Given the description of an element on the screen output the (x, y) to click on. 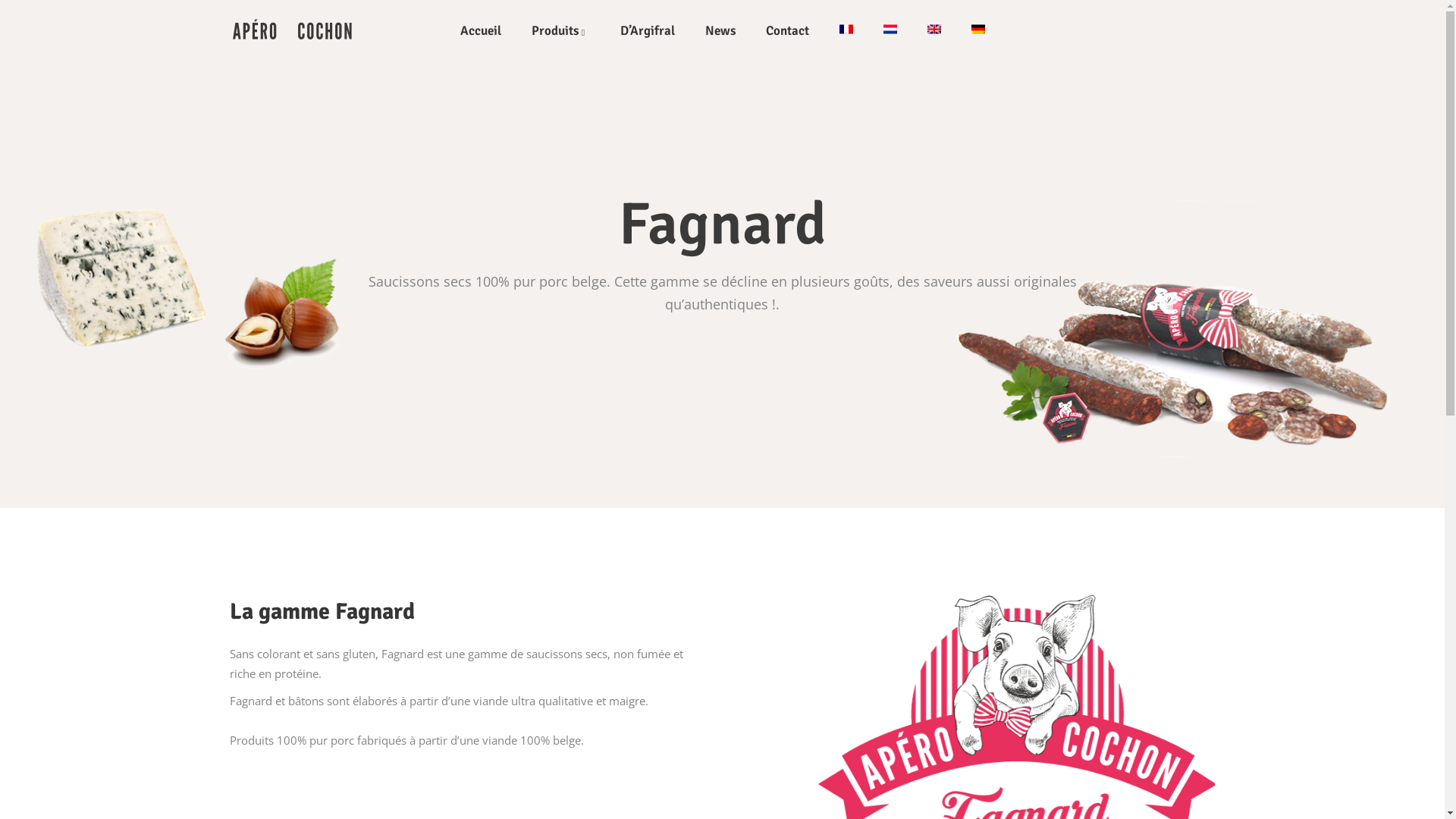
Deutsch Element type: hover (978, 28)
English Element type: hover (934, 28)
Accueil Element type: text (480, 29)
News Element type: text (720, 29)
Contact Element type: text (787, 29)
Produits Element type: text (560, 29)
Nederlands Element type: hover (890, 28)
